Given the description of an element on the screen output the (x, y) to click on. 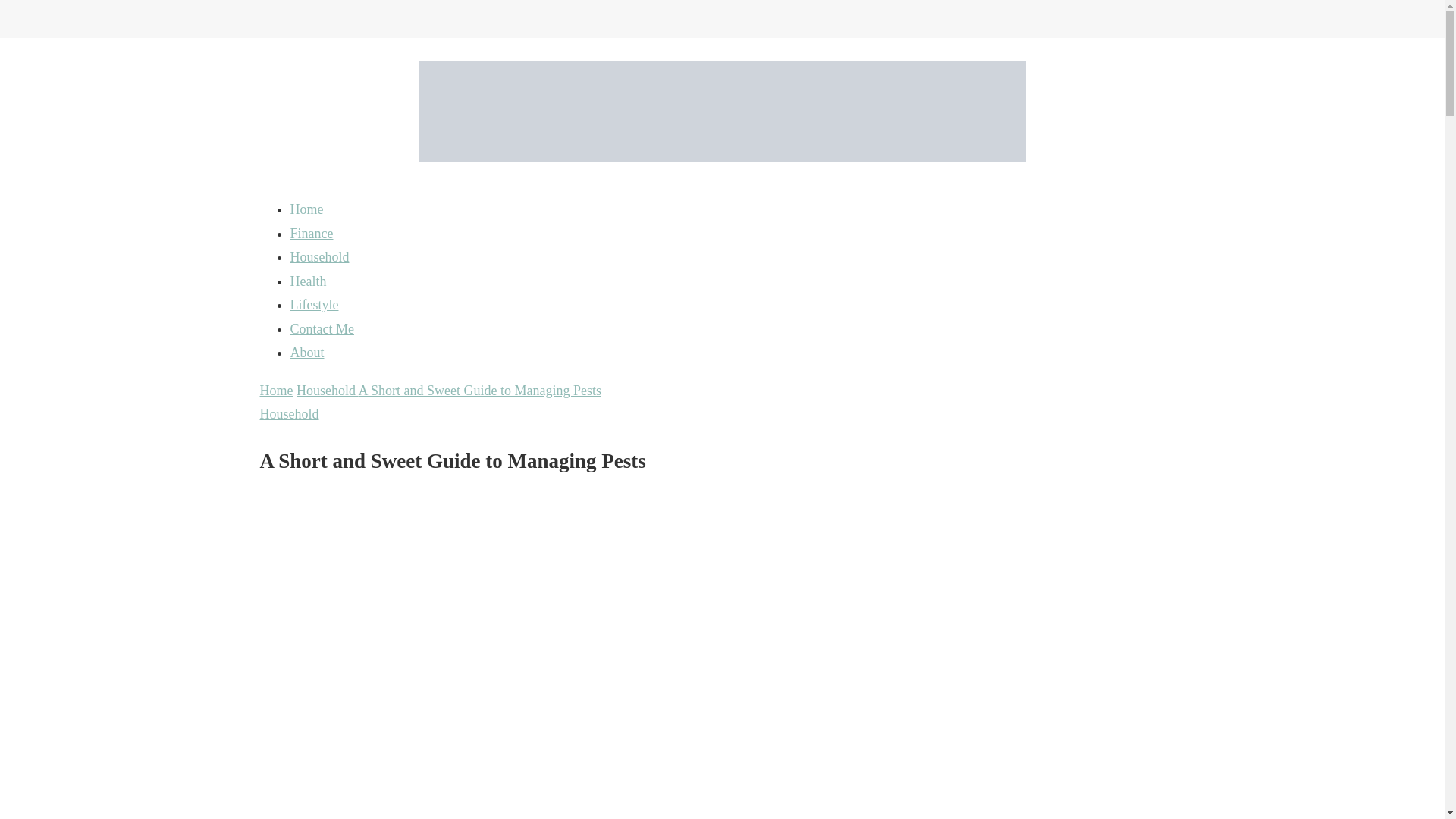
Home (306, 209)
Health (307, 281)
About (306, 352)
Home (275, 390)
Household (288, 413)
Contact Me (321, 328)
Household (327, 390)
Lifestyle (313, 304)
Finance (311, 233)
Finding Farina (326, 203)
Search (1148, 22)
A Short and Sweet Guide to Managing Pests (479, 390)
Household (319, 256)
